Given the description of an element on the screen output the (x, y) to click on. 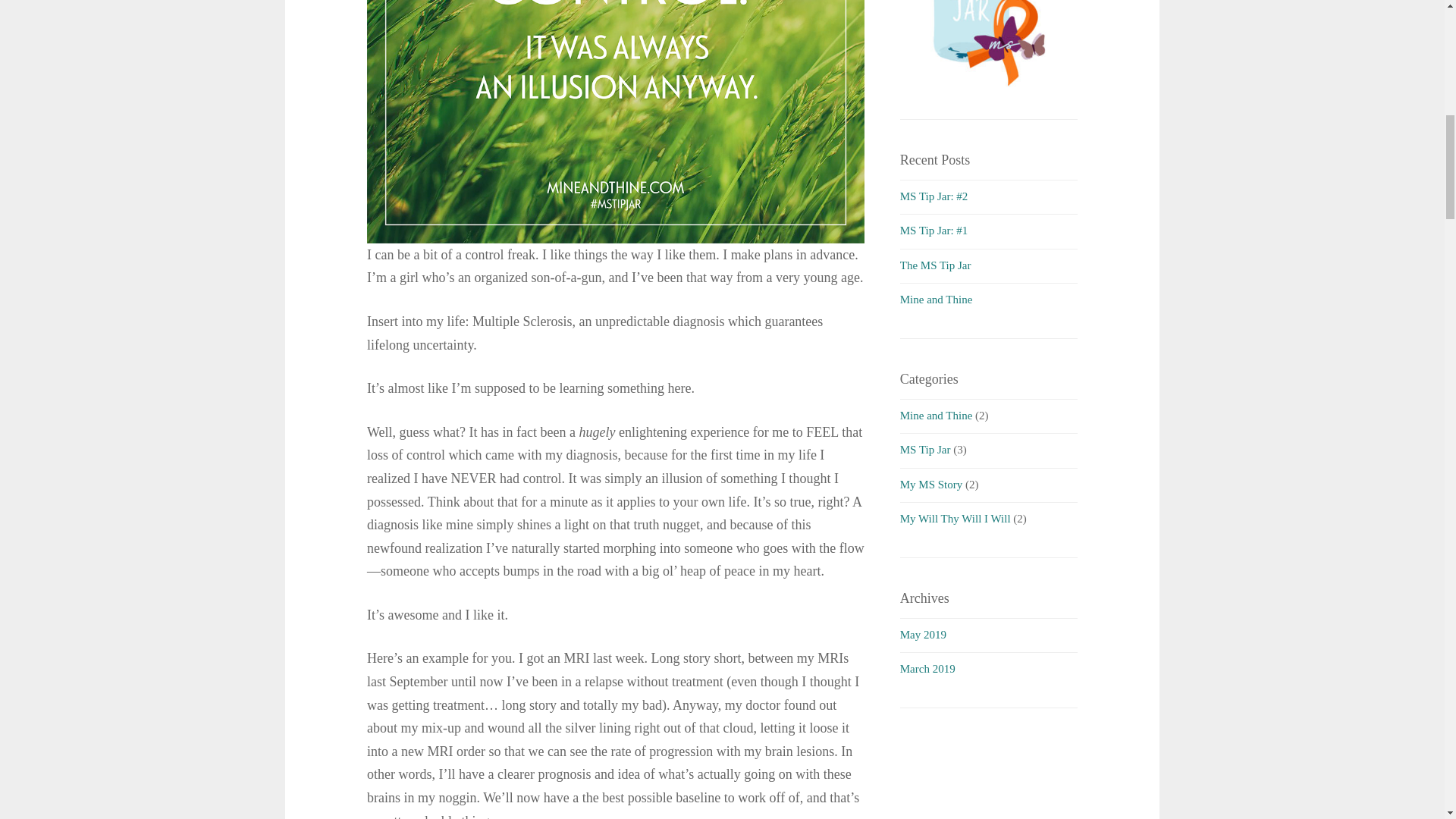
Mine and Thine (935, 415)
My Will Thy Will I Will (954, 518)
MS Tip Jar (924, 449)
March 2019 (927, 668)
My MS Story (930, 484)
May 2019 (922, 634)
The MS Tip Jar (935, 265)
Mine and Thine (935, 299)
